Given the description of an element on the screen output the (x, y) to click on. 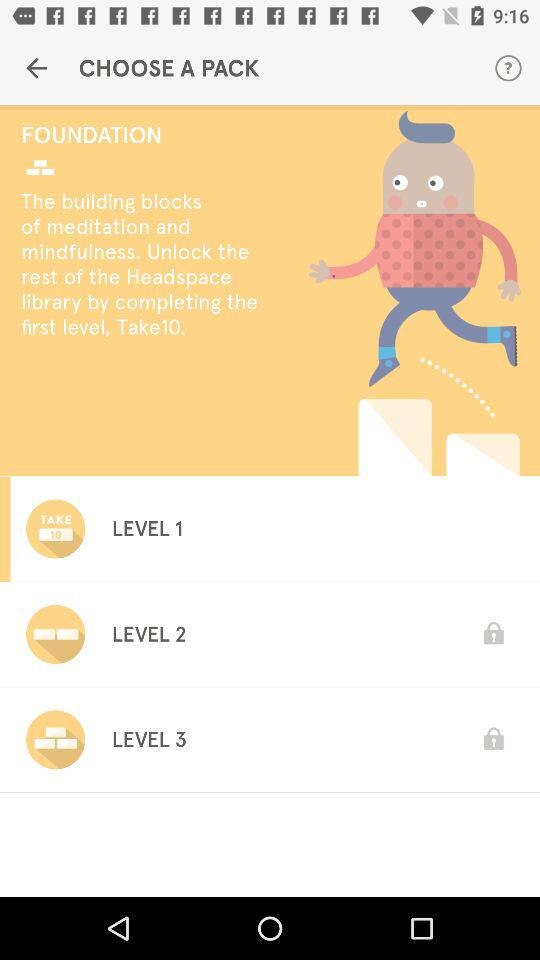
click level 3 icon (148, 739)
